Given the description of an element on the screen output the (x, y) to click on. 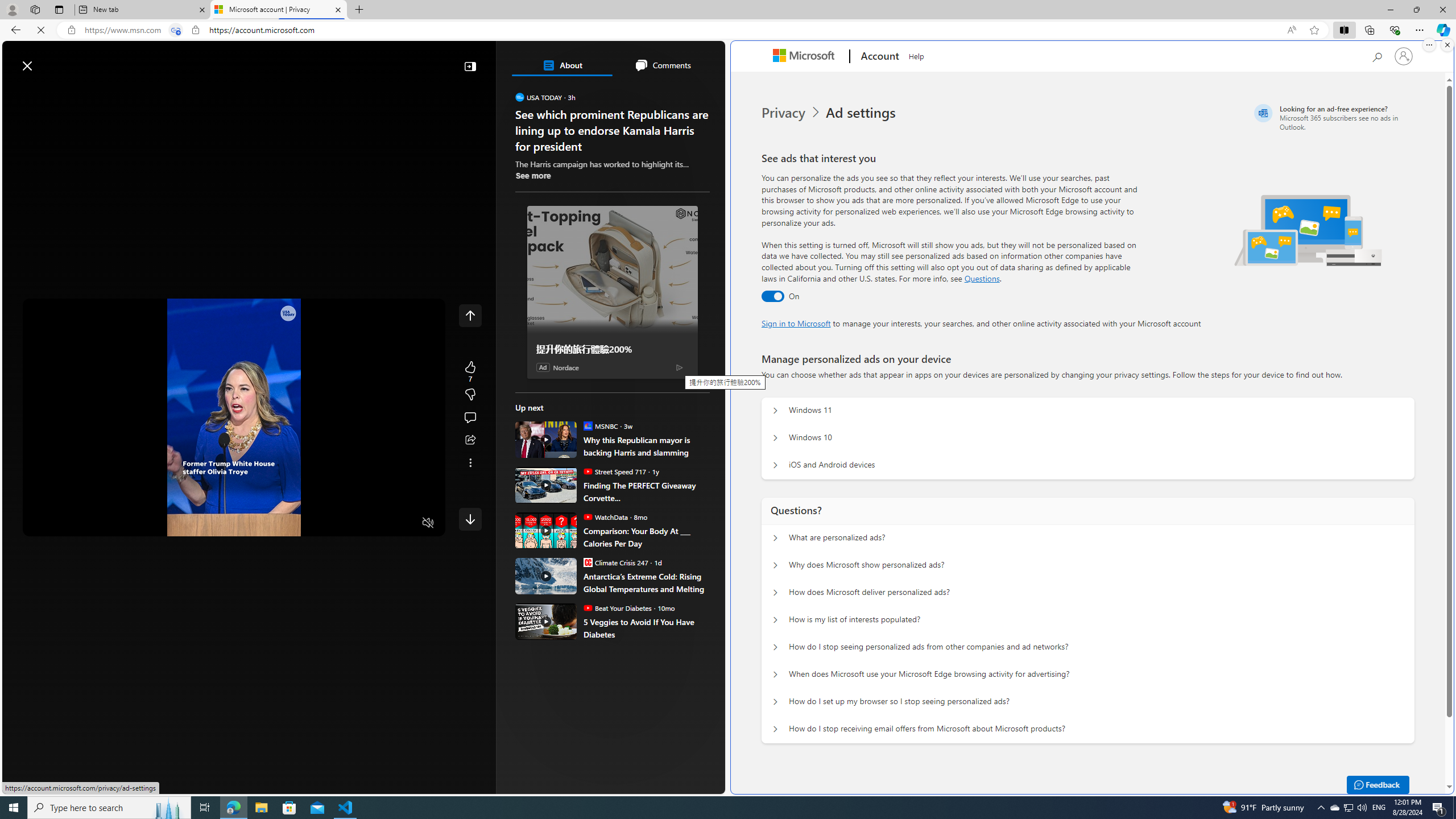
Love dogs? We do, too. (616, 219)
Beat Your Diabetes Beat Your Diabetes (617, 607)
The Seeing Eye (579, 249)
WatchData WatchData (604, 516)
